Given the description of an element on the screen output the (x, y) to click on. 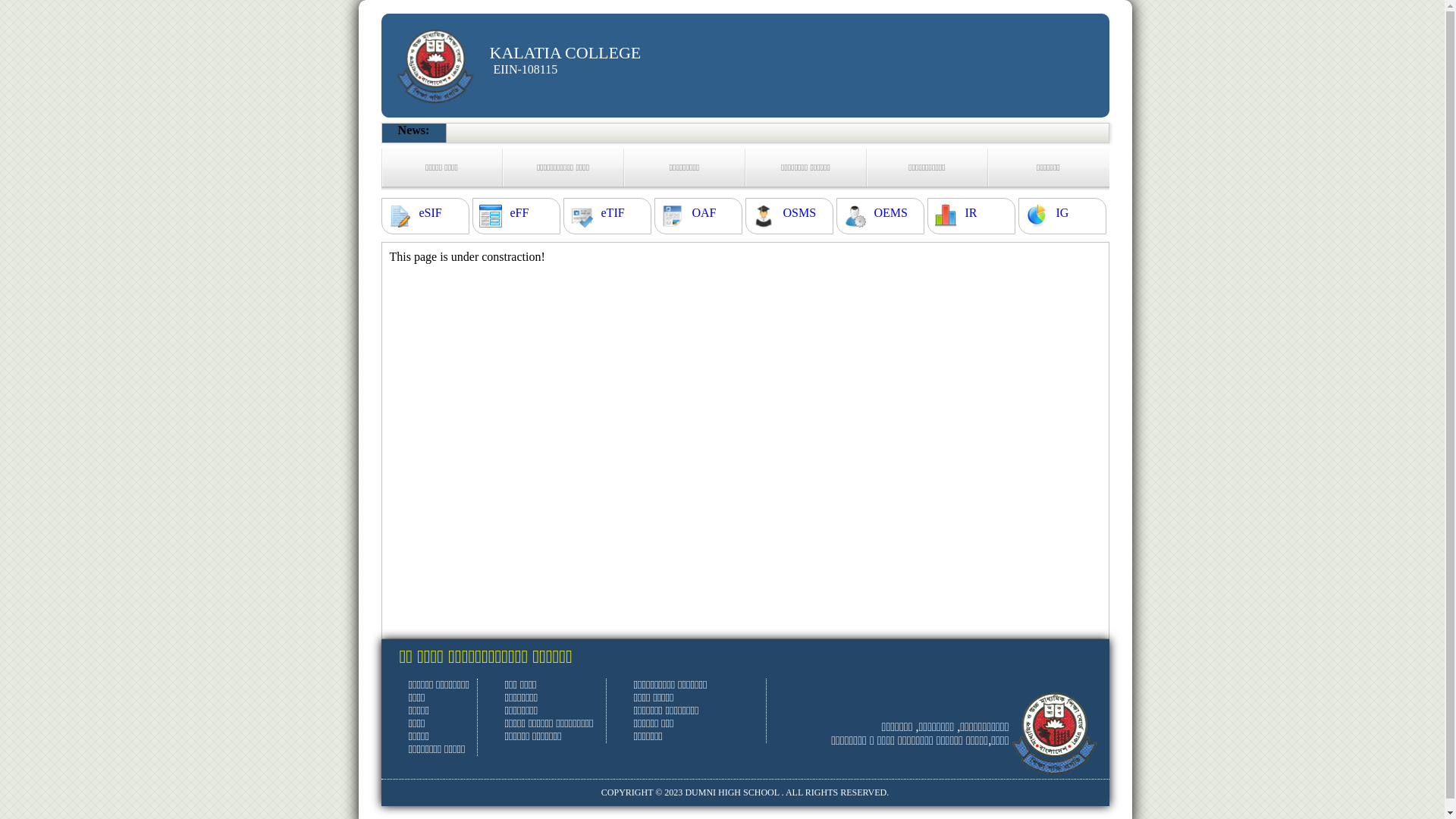
OSMS Element type: text (798, 212)
eTIF Element type: text (612, 212)
IG Element type: text (1061, 212)
OAF Element type: text (703, 212)
DUMNI HIGH SCHOOL Element type: text (731, 792)
IR Element type: text (970, 212)
OEMS Element type: text (889, 212)
eSIF Element type: text (429, 212)
eFF Element type: text (518, 212)
